Given the description of an element on the screen output the (x, y) to click on. 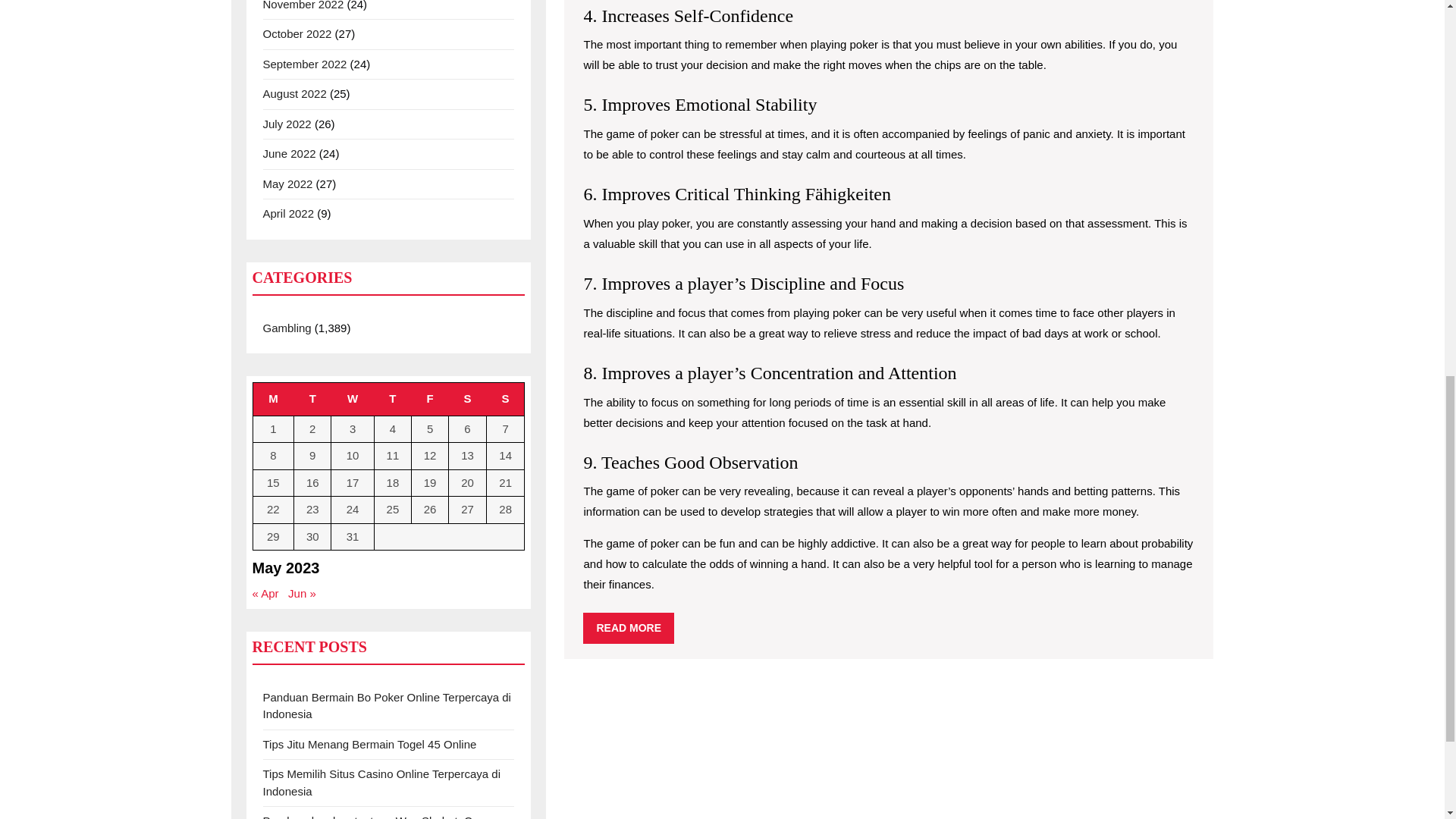
November 2022 (302, 4)
Thursday (392, 398)
October 2022 (296, 33)
September 2022 (304, 63)
June 2022 (288, 153)
Saturday (467, 398)
Sunday (505, 398)
Wednesday (352, 398)
August 2022 (294, 92)
Tuesday (312, 398)
April 2022 (288, 213)
July 2022 (286, 123)
Friday (430, 398)
May 2022 (287, 183)
Monday (272, 398)
